Given the description of an element on the screen output the (x, y) to click on. 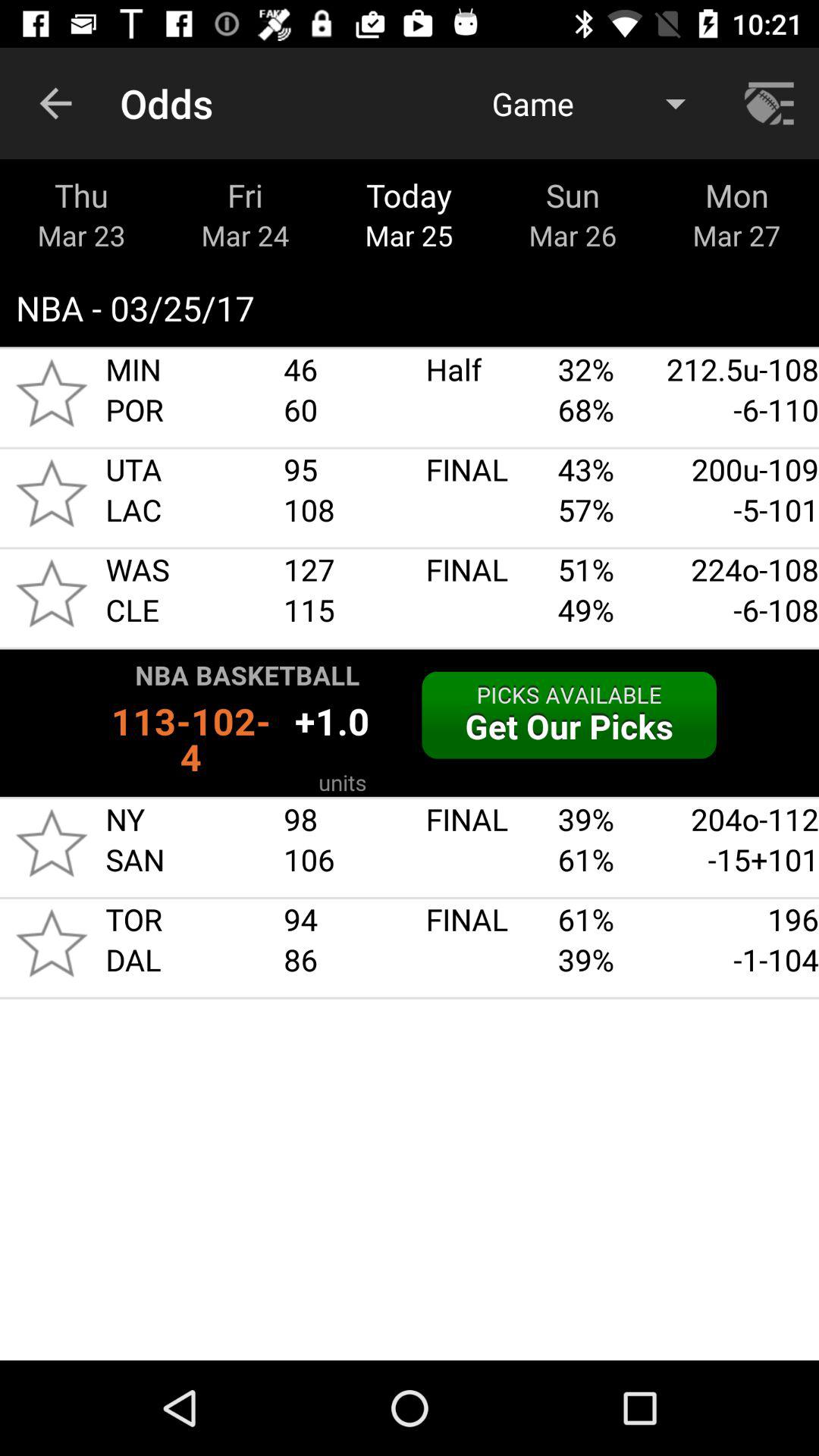
favorite game (51, 593)
